Given the description of an element on the screen output the (x, y) to click on. 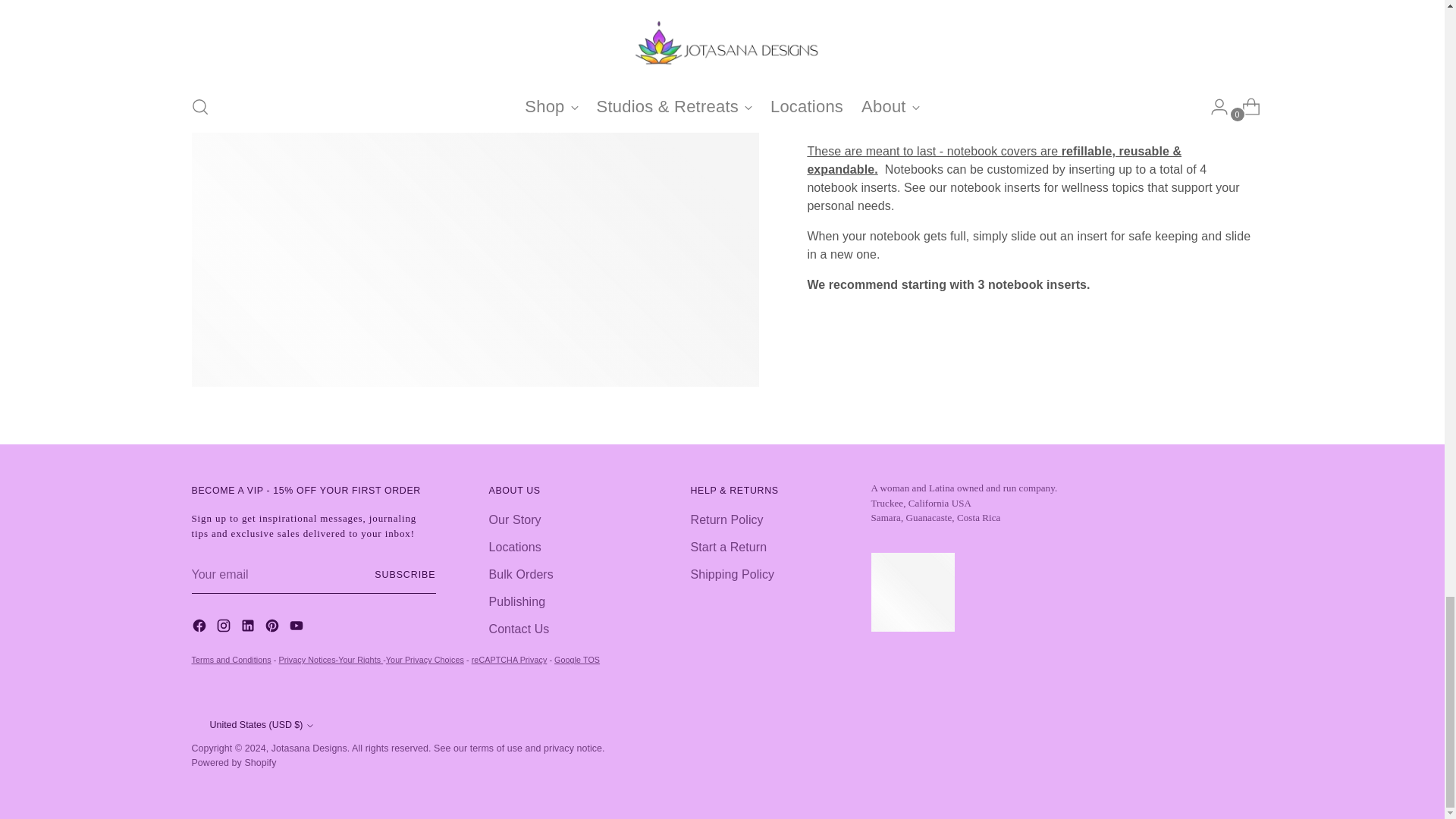
Terms of Service (230, 659)
Do not sell or share my personal information (424, 659)
Jotasana Designs on Pinterest (272, 628)
Privacy Policy (331, 659)
Jotasana Designs on Instagram (223, 628)
